Given the description of an element on the screen output the (x, y) to click on. 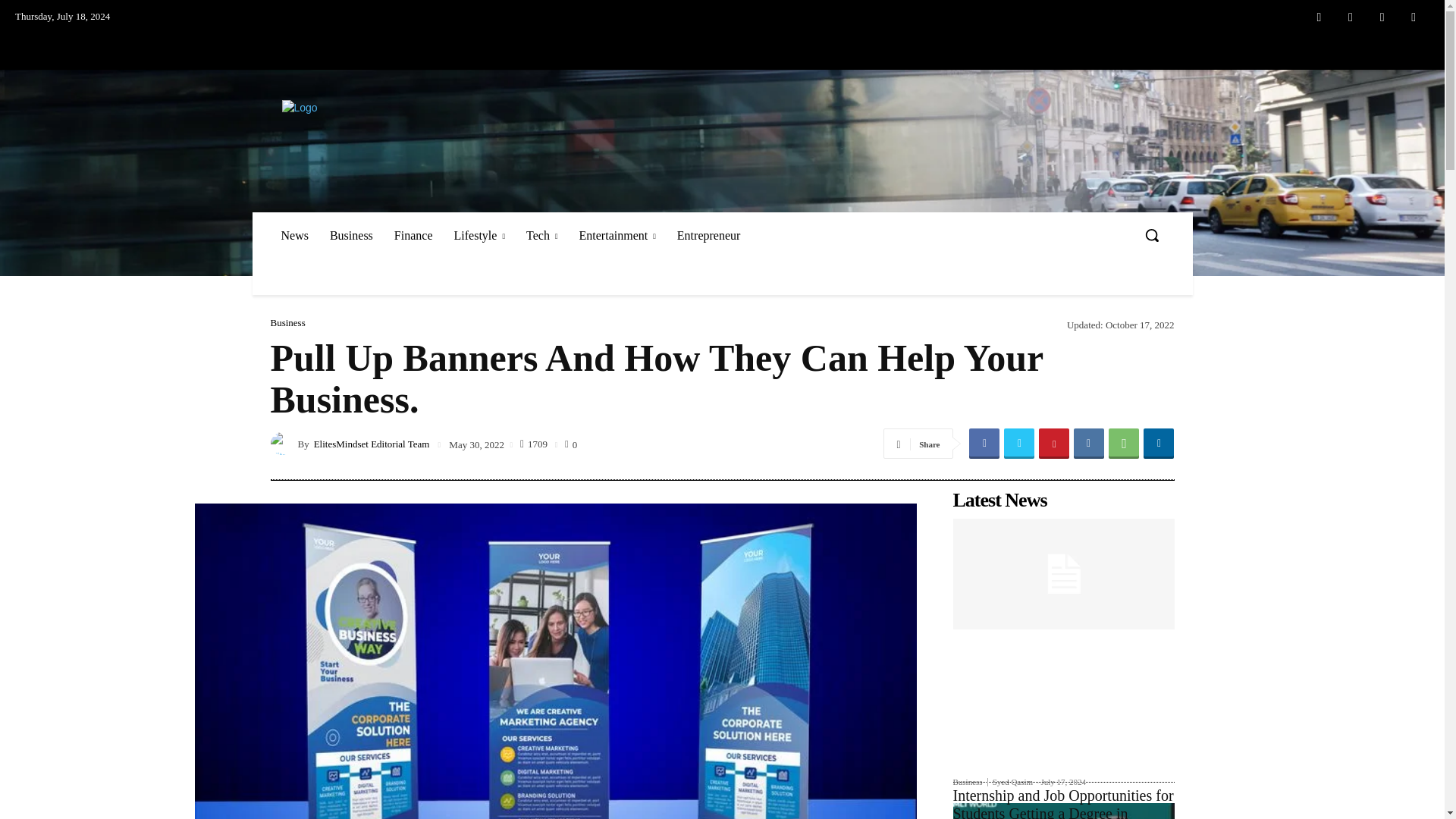
Twitter (1382, 17)
Finance (414, 235)
Instagram (1351, 17)
News (293, 235)
Entertainment (617, 235)
Facebook (1319, 17)
Facebook (983, 443)
Tech (542, 235)
ElitesMindset Editorial Team (283, 443)
Youtube (1413, 17)
Business (351, 235)
Lifestyle (478, 235)
